Given the description of an element on the screen output the (x, y) to click on. 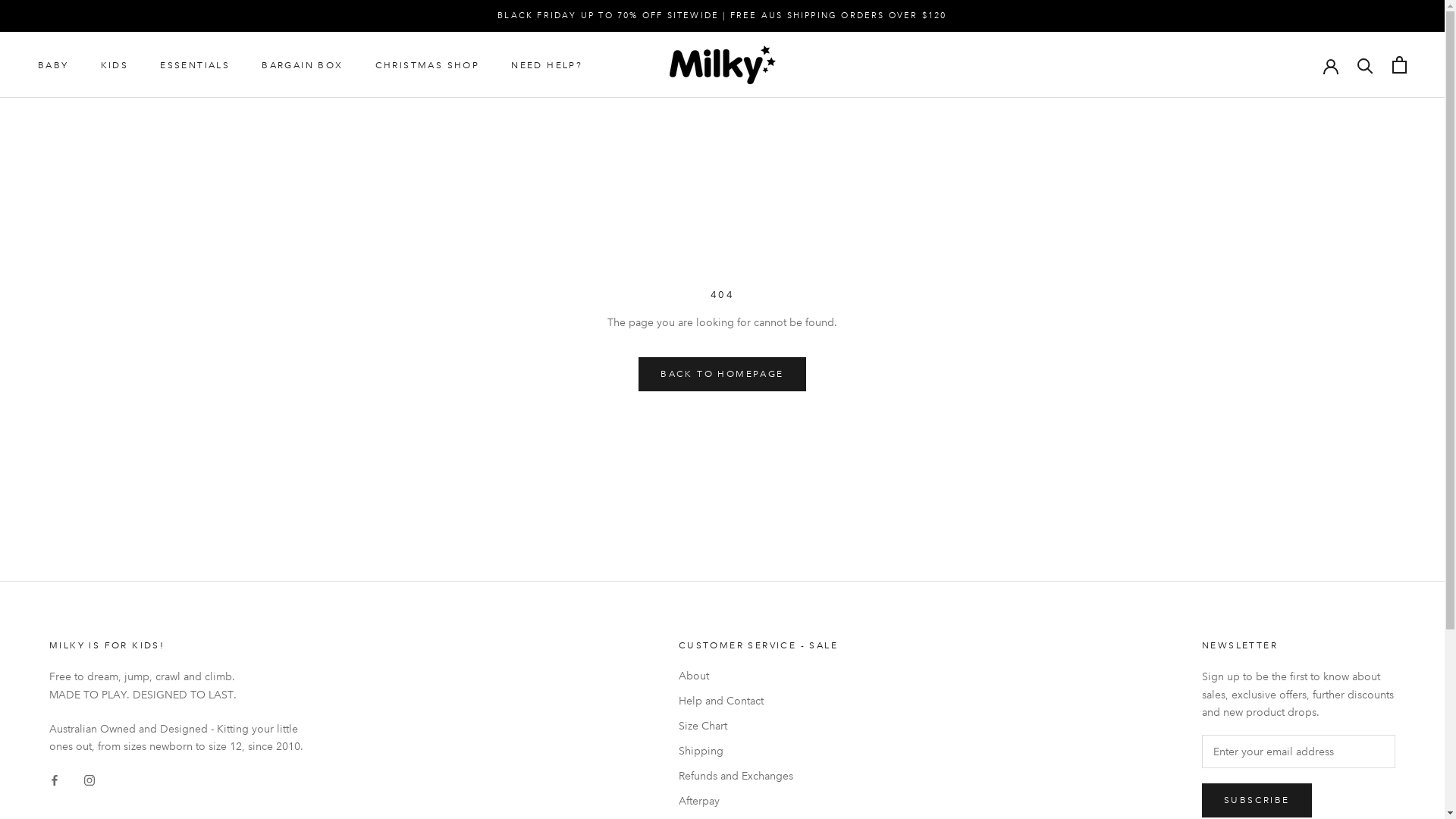
KIDS
KIDS Element type: text (114, 65)
Shipping Element type: text (757, 751)
ESSENTIALS
ESSENTIALS Element type: text (194, 65)
Size Chart Element type: text (757, 726)
SUBSCRIBE Element type: text (1256, 800)
Refunds and Exchanges Element type: text (757, 776)
Afterpay Element type: text (757, 801)
CHRISTMAS SHOP
CHRISTMAS SHOP Element type: text (427, 65)
BACK TO HOMEPAGE Element type: text (721, 374)
Help and Contact Element type: text (757, 701)
BABY
BABY Element type: text (53, 65)
NEED HELP?
NEED HELP? Element type: text (546, 65)
BARGAIN BOX
BARGAIN BOX Element type: text (301, 65)
About Element type: text (757, 676)
